Given the description of an element on the screen output the (x, y) to click on. 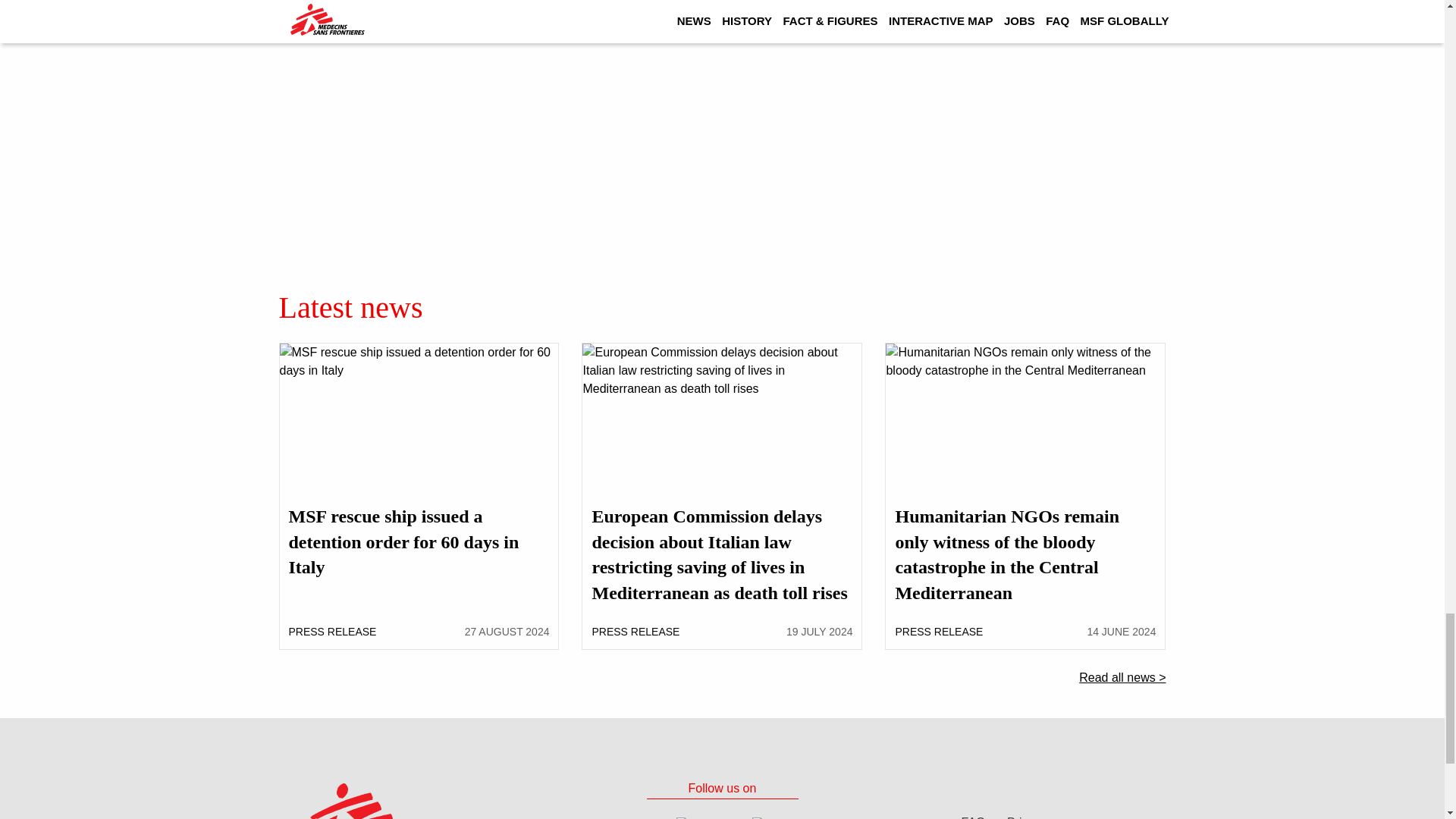
Privacy (1026, 816)
FAQ (972, 816)
